Given the description of an element on the screen output the (x, y) to click on. 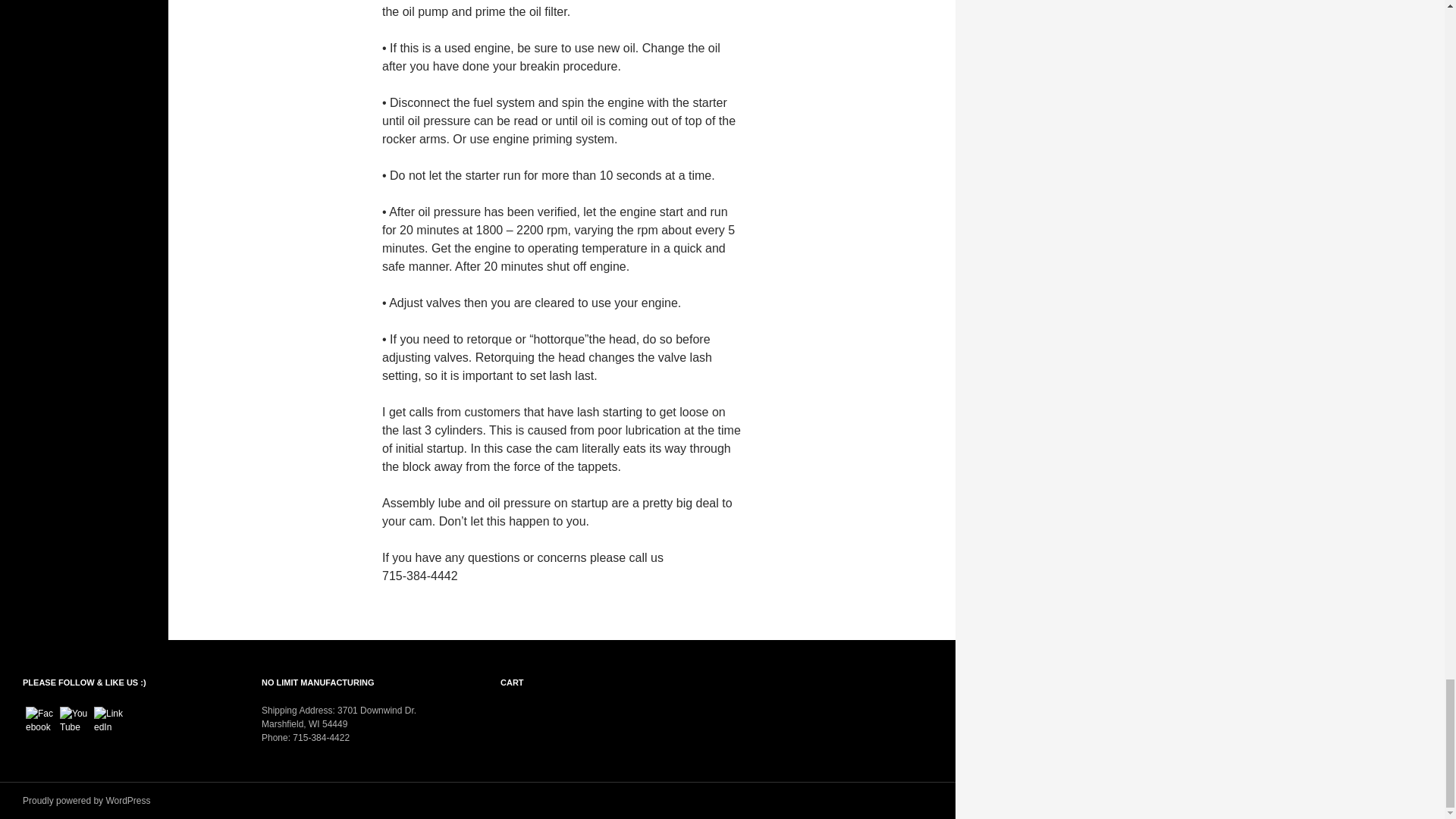
LinkedIn (108, 719)
Facebook (41, 719)
YouTube (74, 719)
